Given the description of an element on the screen output the (x, y) to click on. 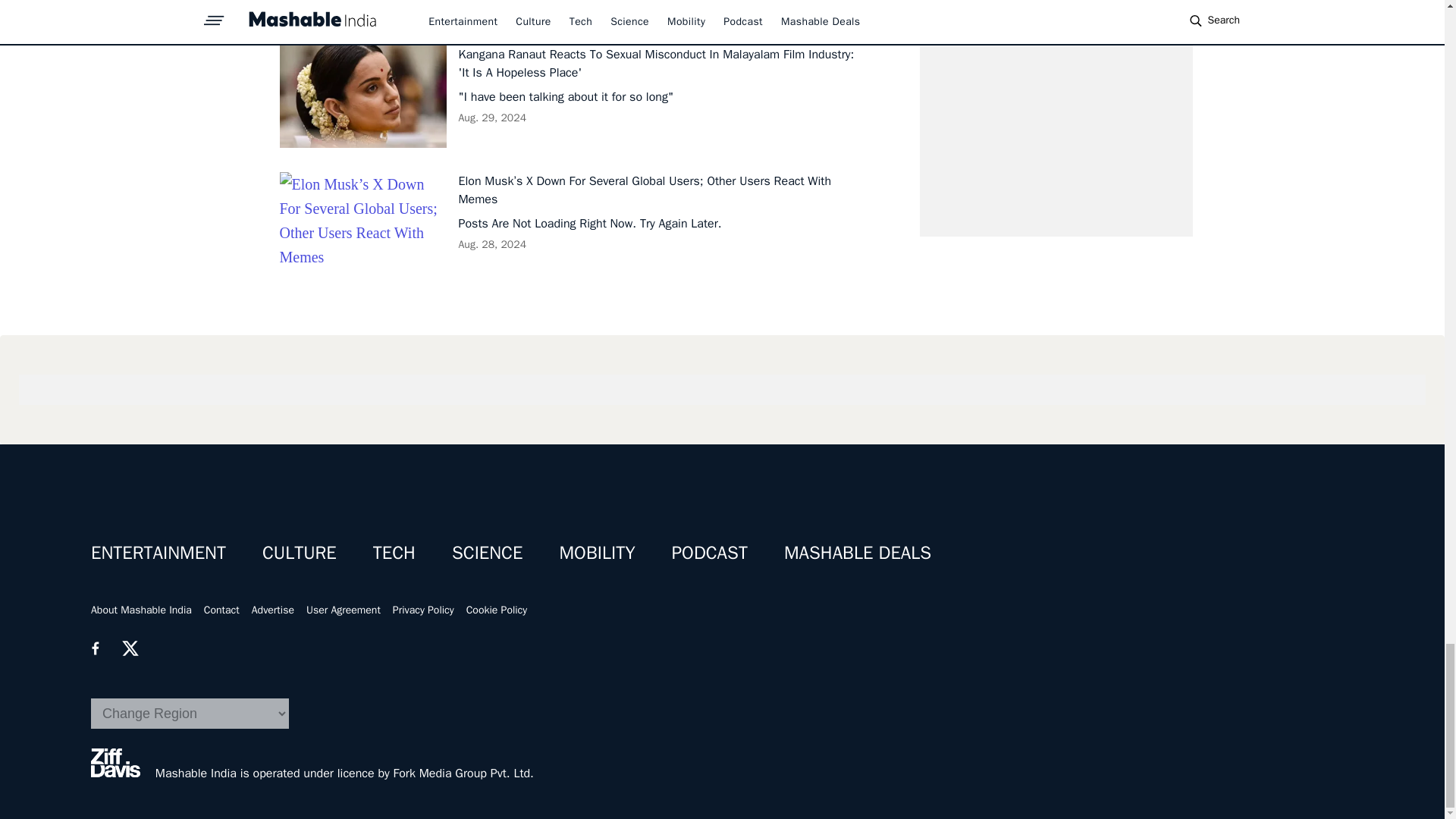
ENTERTAINMENT (157, 552)
CULTURE (299, 552)
